Given the description of an element on the screen output the (x, y) to click on. 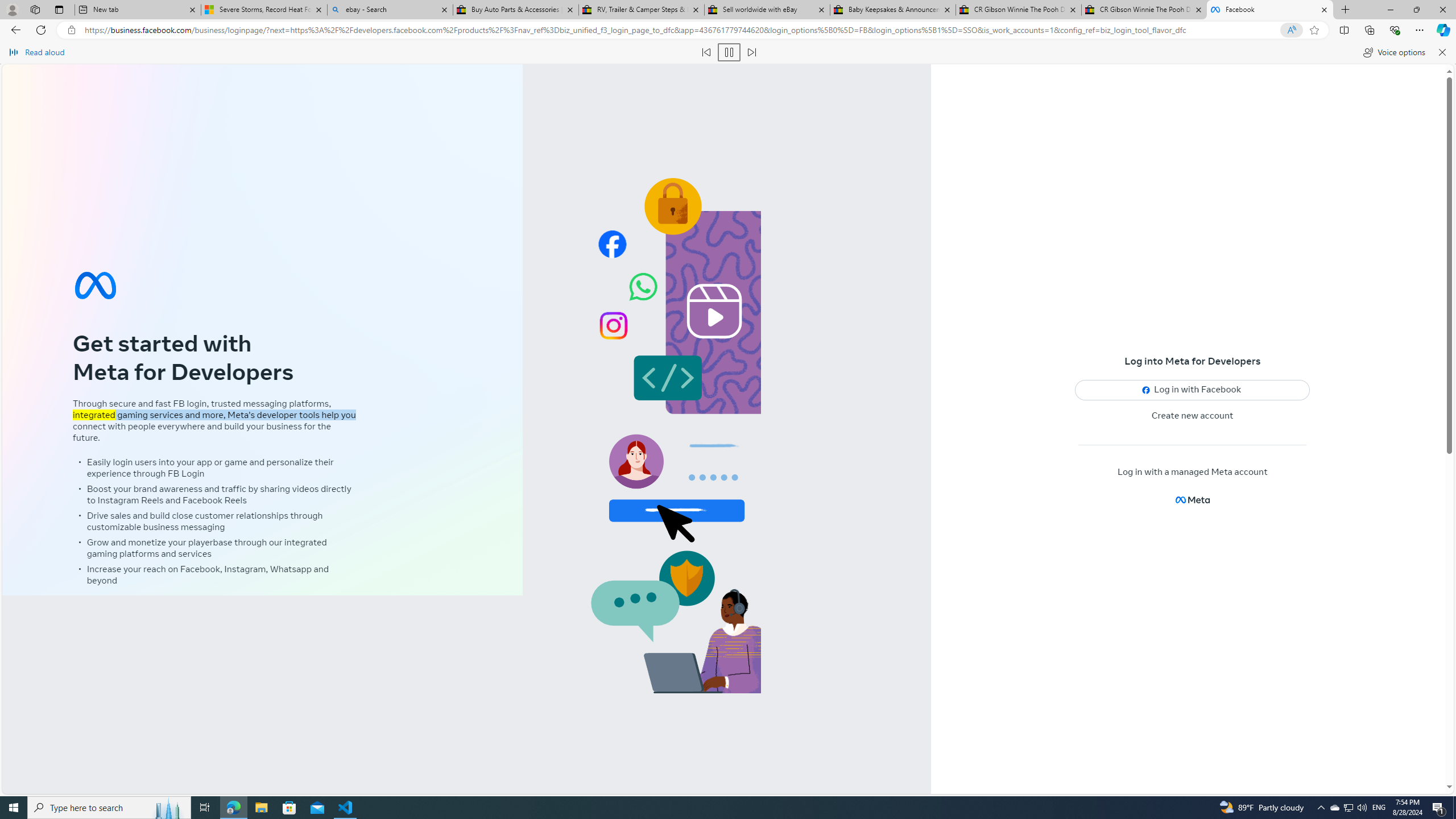
Read next paragraph (750, 52)
Meta symbol (95, 285)
Create new account (1192, 415)
